Given the description of an element on the screen output the (x, y) to click on. 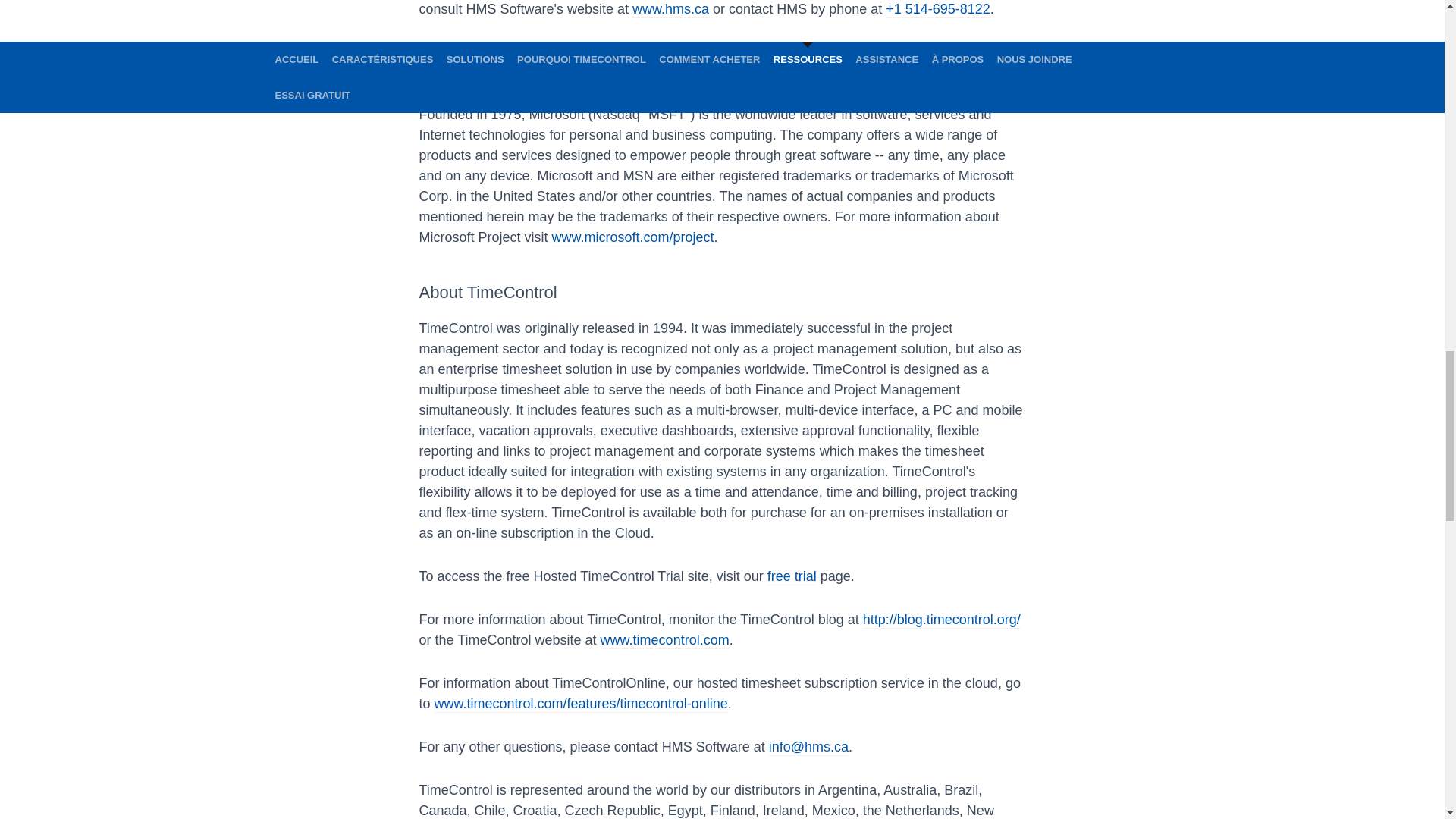
www.timecontrol.com (664, 640)
free trial (791, 576)
www.hms.ca (670, 9)
